Given the description of an element on the screen output the (x, y) to click on. 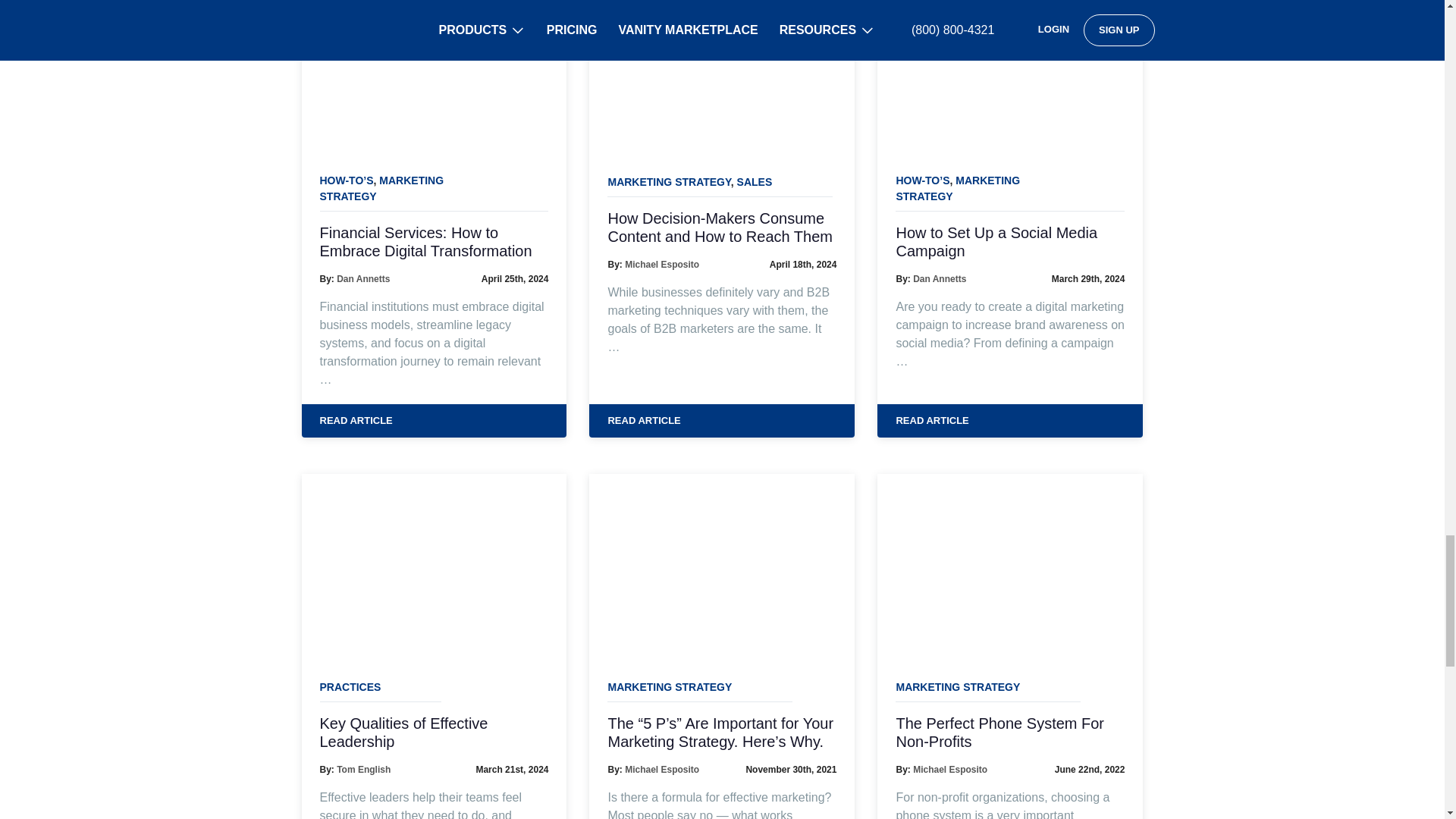
Posts by Michael Esposito (661, 264)
Posts by Dan Annetts (363, 278)
Posts by Michael Esposito (661, 769)
Posts by Michael Esposito (949, 769)
Posts by Dan Annetts (939, 278)
Posts by Tom English (363, 769)
